Given the description of an element on the screen output the (x, y) to click on. 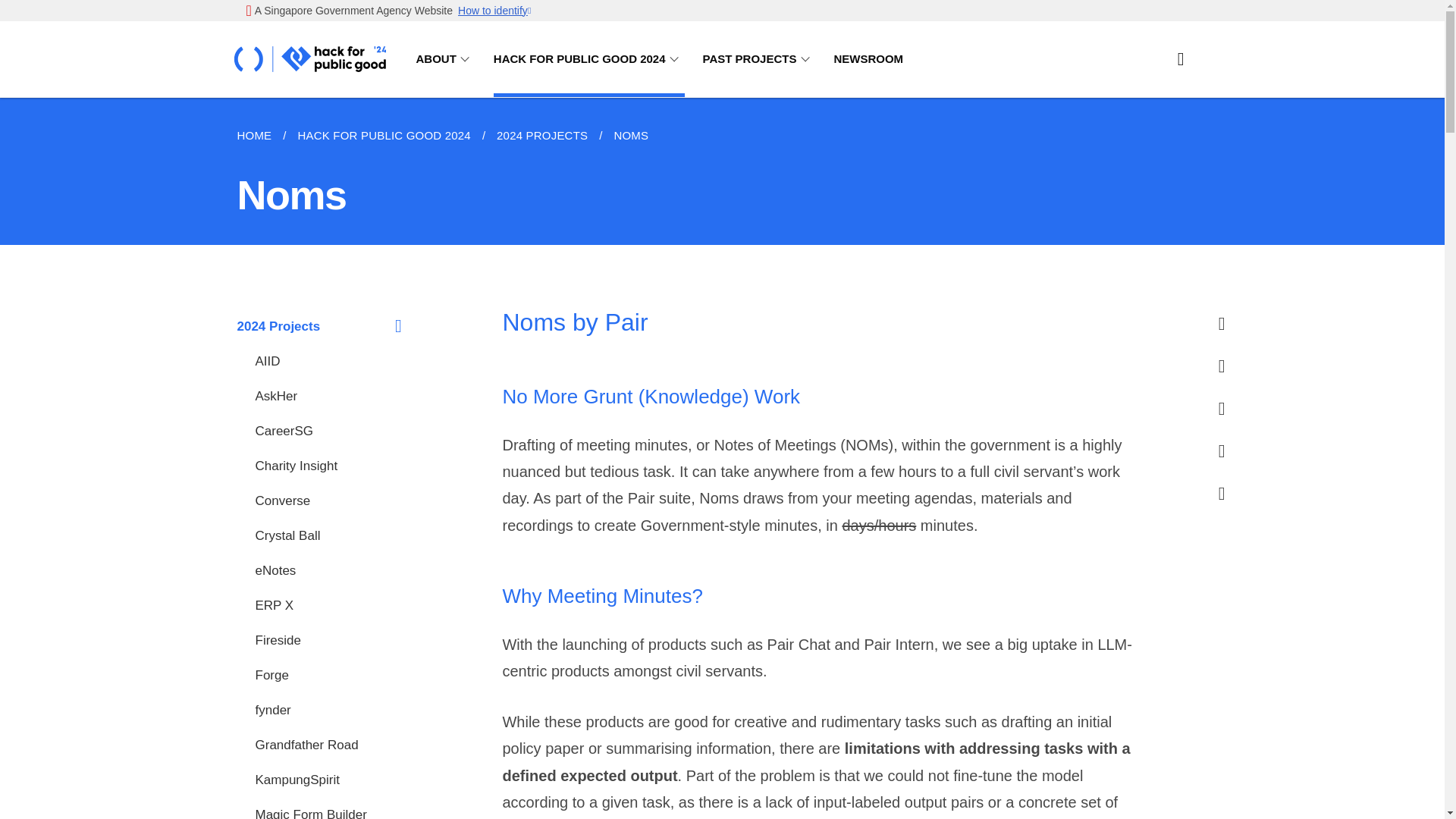
NEWSROOM (867, 59)
PAST PROJECTS (759, 59)
2024 PROJECTS (541, 135)
NOMS (630, 135)
HOME (258, 135)
HACK FOR PUBLIC GOOD 2024 (383, 135)
HACK FOR PUBLIC GOOD 2024 (588, 59)
